Given the description of an element on the screen output the (x, y) to click on. 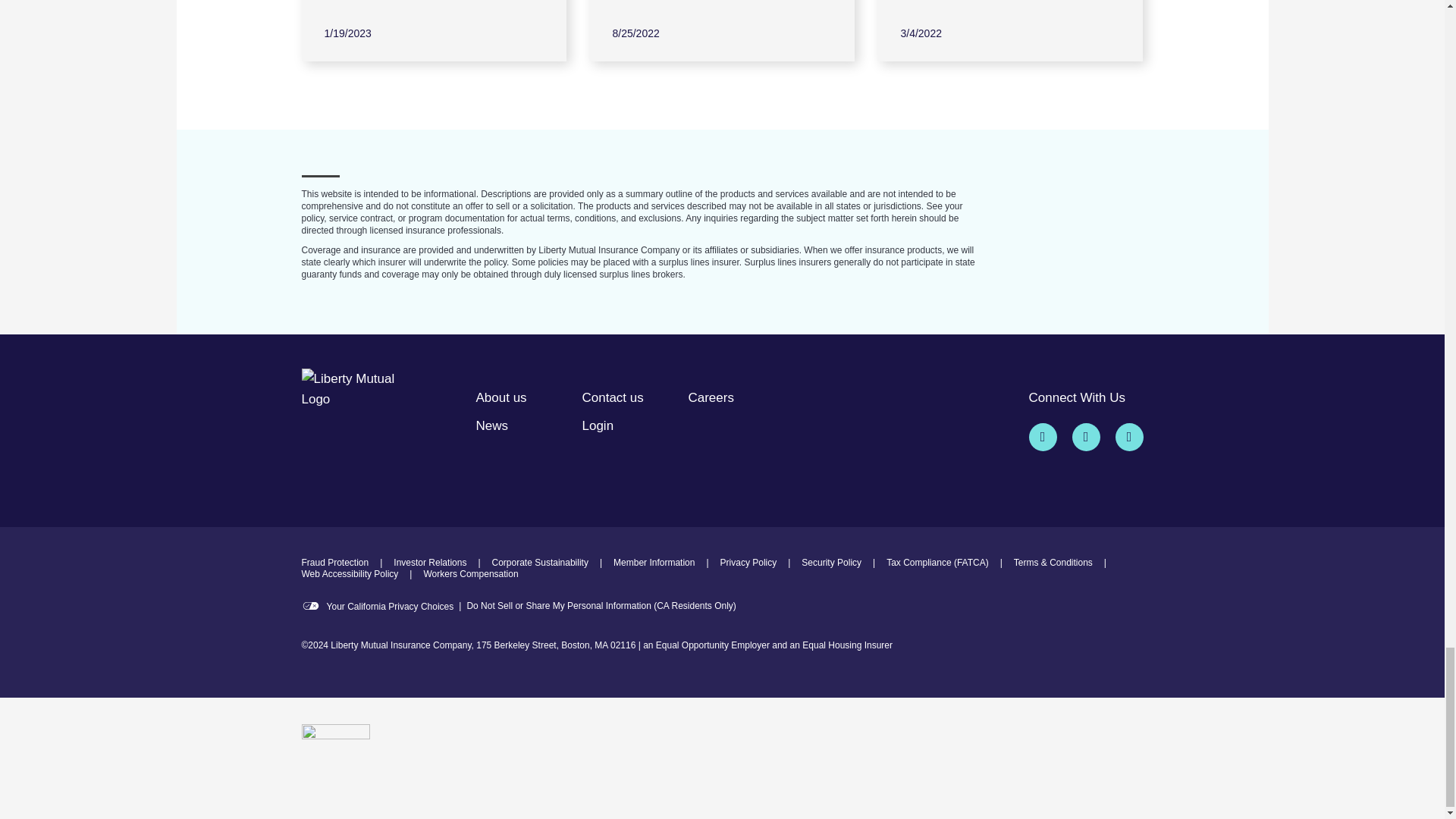
Norton Secured Logo (335, 757)
View our YouTube channel (1128, 437)
Liberty Mutual Logo (362, 401)
View our LinkedIn page (1085, 437)
View our Twitter page (1042, 437)
